Given the description of an element on the screen output the (x, y) to click on. 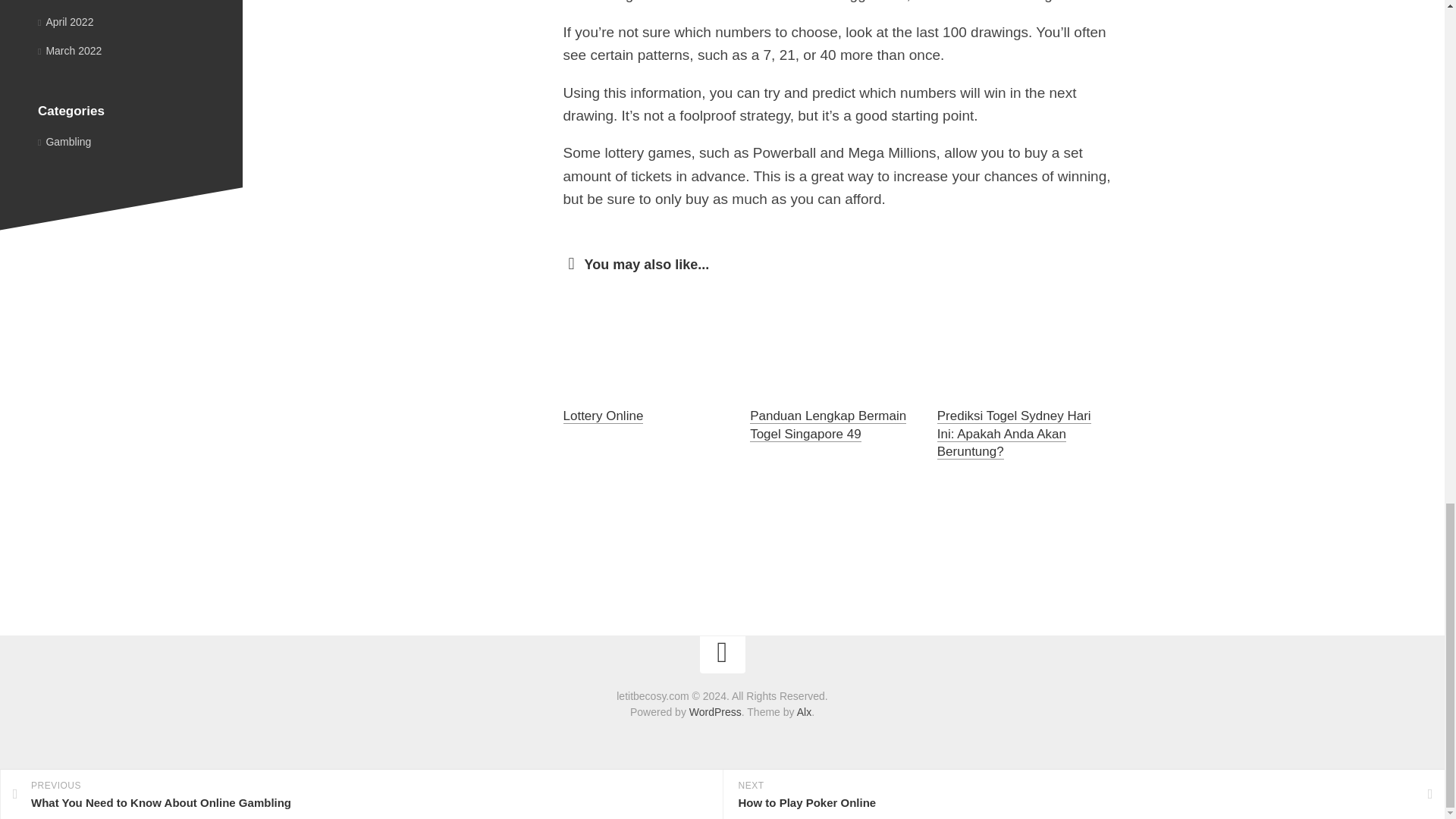
Prediksi Togel Sydney Hari Ini: Apakah Anda Akan Beruntung? (1013, 433)
Panduan Lengkap Bermain Togel Singapore 49 (827, 424)
Lottery Online (602, 415)
